Given the description of an element on the screen output the (x, y) to click on. 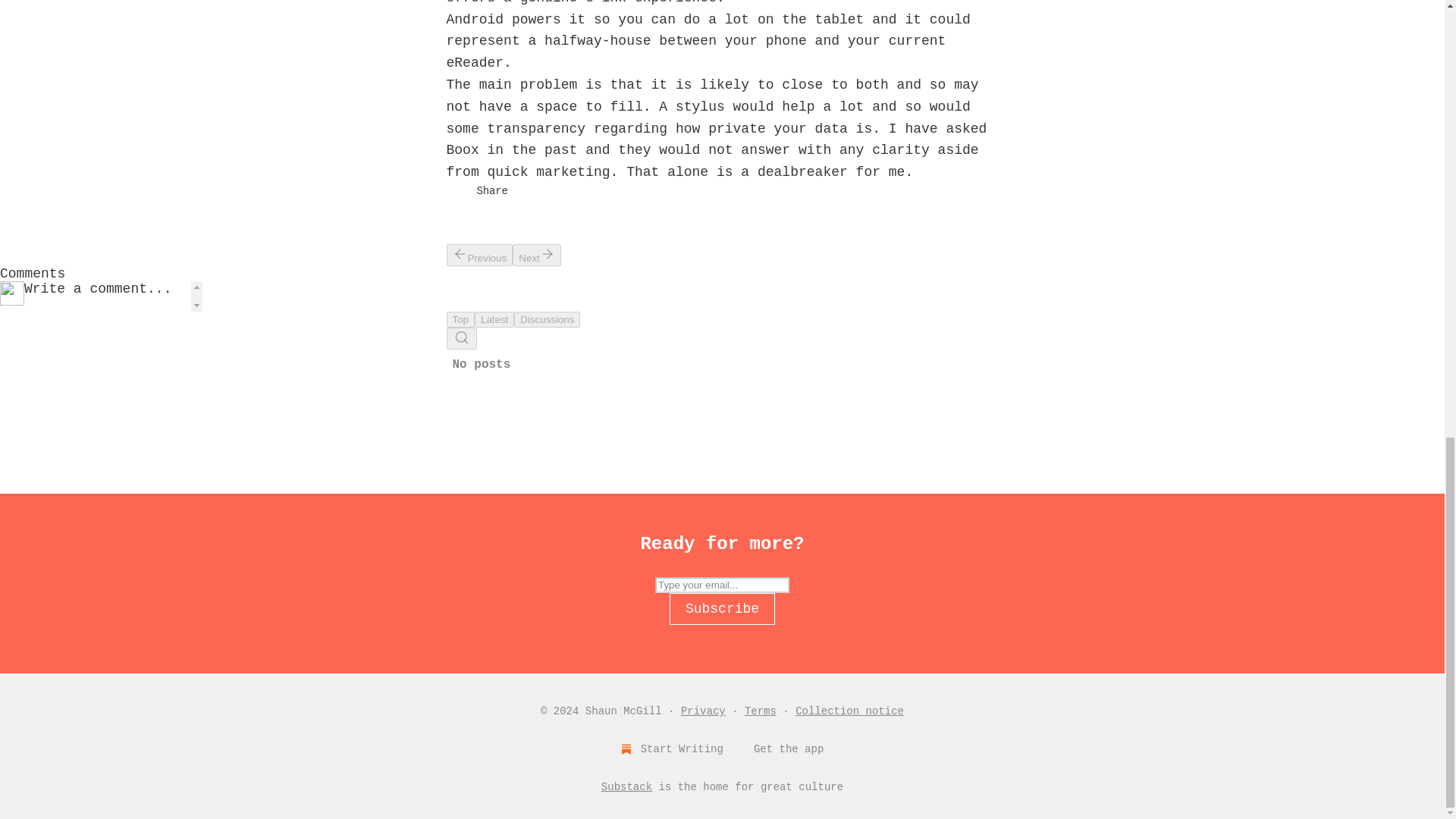
Discussions (546, 319)
Previous (478, 255)
Latest (493, 319)
Next (536, 255)
Share (491, 191)
Top (459, 319)
